Given the description of an element on the screen output the (x, y) to click on. 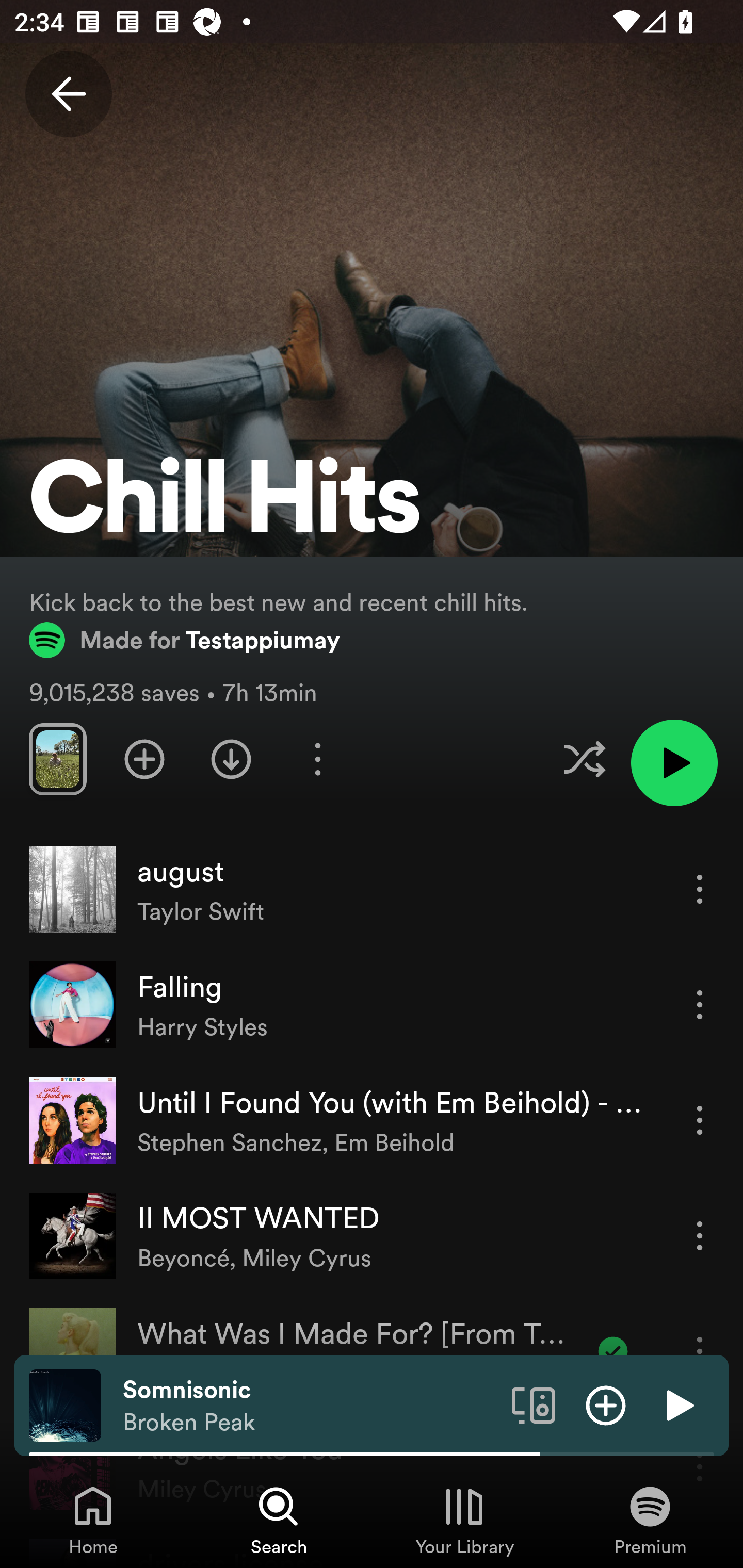
Back (68, 93)
Made for Testappiumay (184, 640)
Swipe through previews of tracks in this playlist. (57, 759)
Add playlist to Your Library (144, 759)
Download (230, 759)
More options for playlist Chill Hits (317, 759)
Enable shuffle for this playlist (583, 759)
Play playlist (674, 762)
august Taylor Swift More options for song august (371, 889)
More options for song august (699, 888)
Falling Harry Styles More options for song Falling (371, 1005)
More options for song Falling (699, 1004)
More options for song II MOST WANTED (699, 1236)
Somnisonic Broken Peak (309, 1405)
The cover art of the currently playing track (64, 1404)
Connect to a device. Opens the devices menu (533, 1404)
Add item (605, 1404)
Play (677, 1404)
Home, Tab 1 of 4 Home Home (92, 1519)
Search, Tab 2 of 4 Search Search (278, 1519)
Your Library, Tab 3 of 4 Your Library Your Library (464, 1519)
Premium, Tab 4 of 4 Premium Premium (650, 1519)
